Given the description of an element on the screen output the (x, y) to click on. 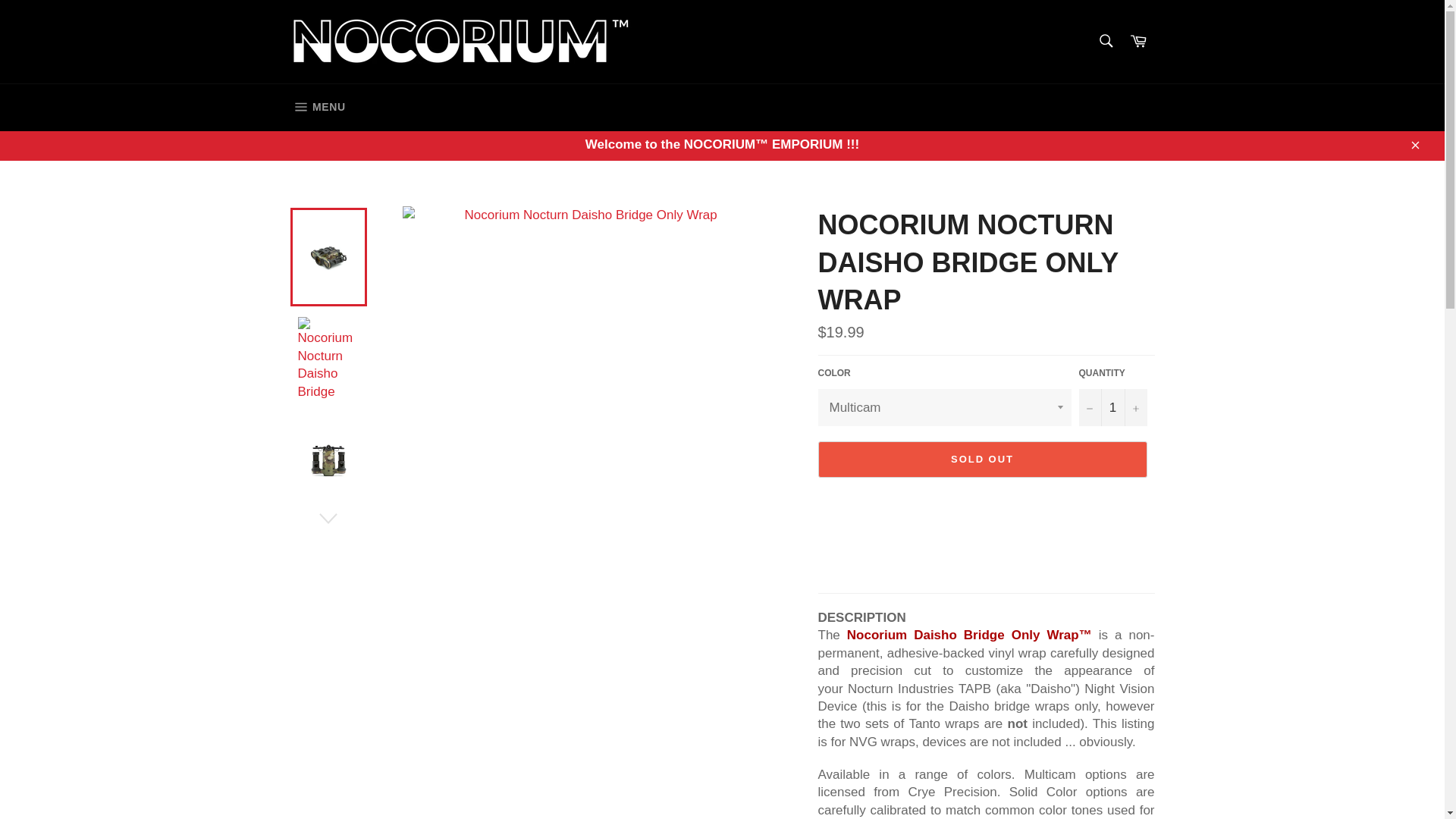
1 (317, 107)
Search (1112, 407)
Cart (1104, 40)
